Given the description of an element on the screen output the (x, y) to click on. 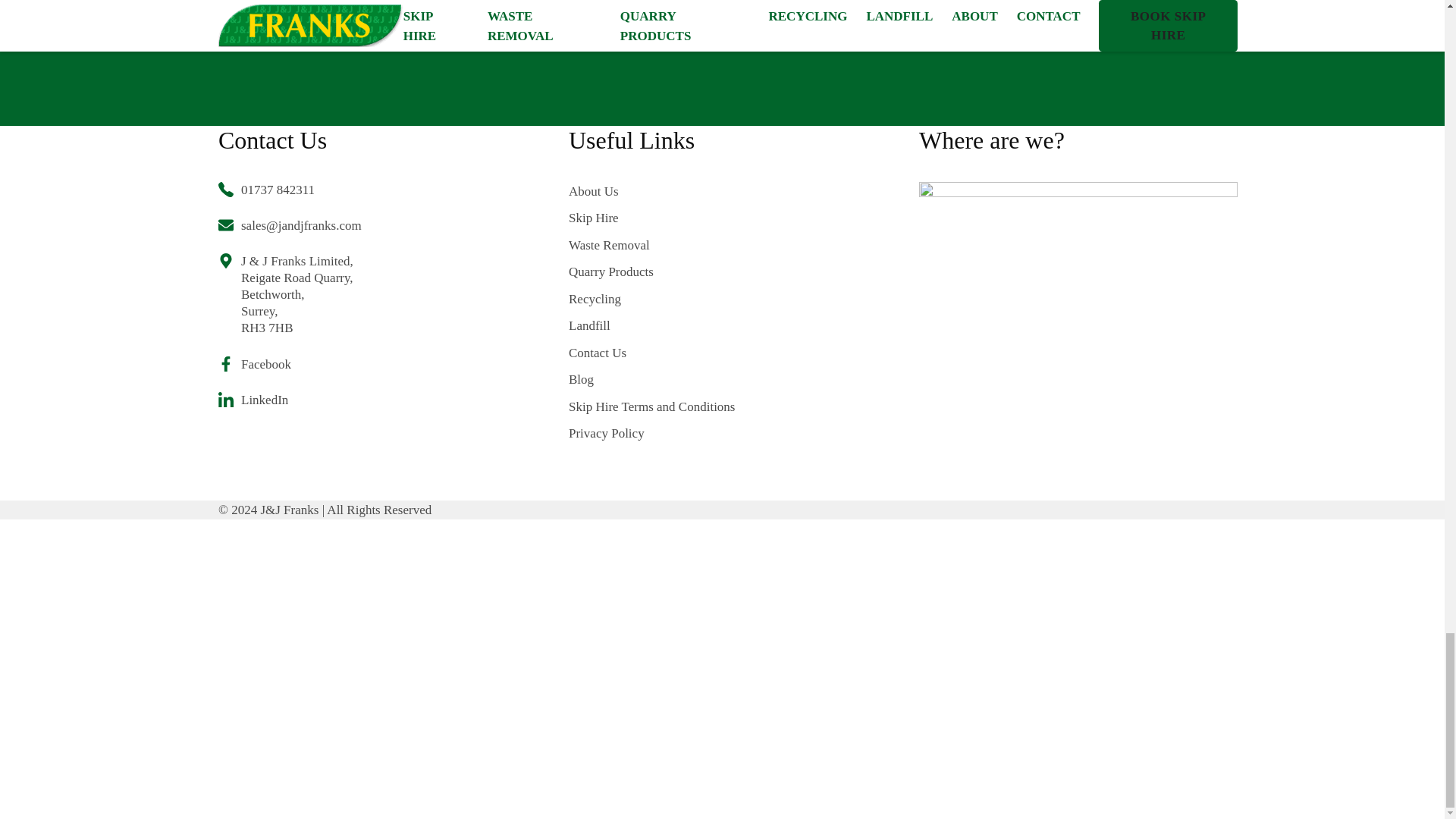
Contact Us (652, 353)
Facebook (289, 364)
Waste Removal (652, 245)
Blog (652, 379)
01737 842311 (289, 190)
About Us (652, 191)
Privacy Policy (652, 433)
Quarry Products (652, 271)
LinkedIn (289, 400)
Skip Hire Terms and Conditions (652, 406)
